Given the description of an element on the screen output the (x, y) to click on. 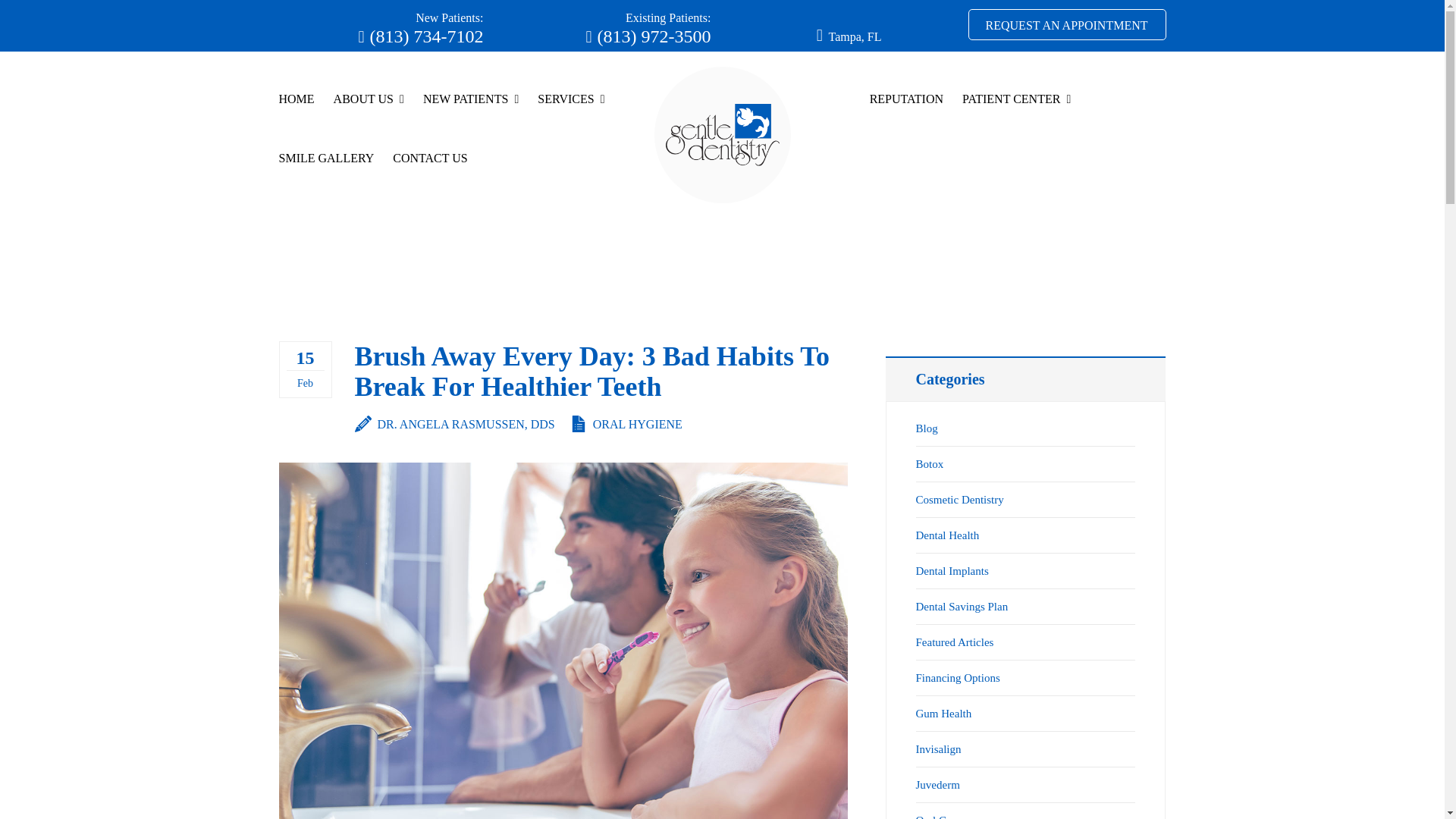
SERVICES (570, 121)
REQUEST AN APPOINTMENT (1067, 24)
Tampa, FL (854, 36)
ABOUT US (368, 121)
NEW PATIENTS (470, 121)
